Given the description of an element on the screen output the (x, y) to click on. 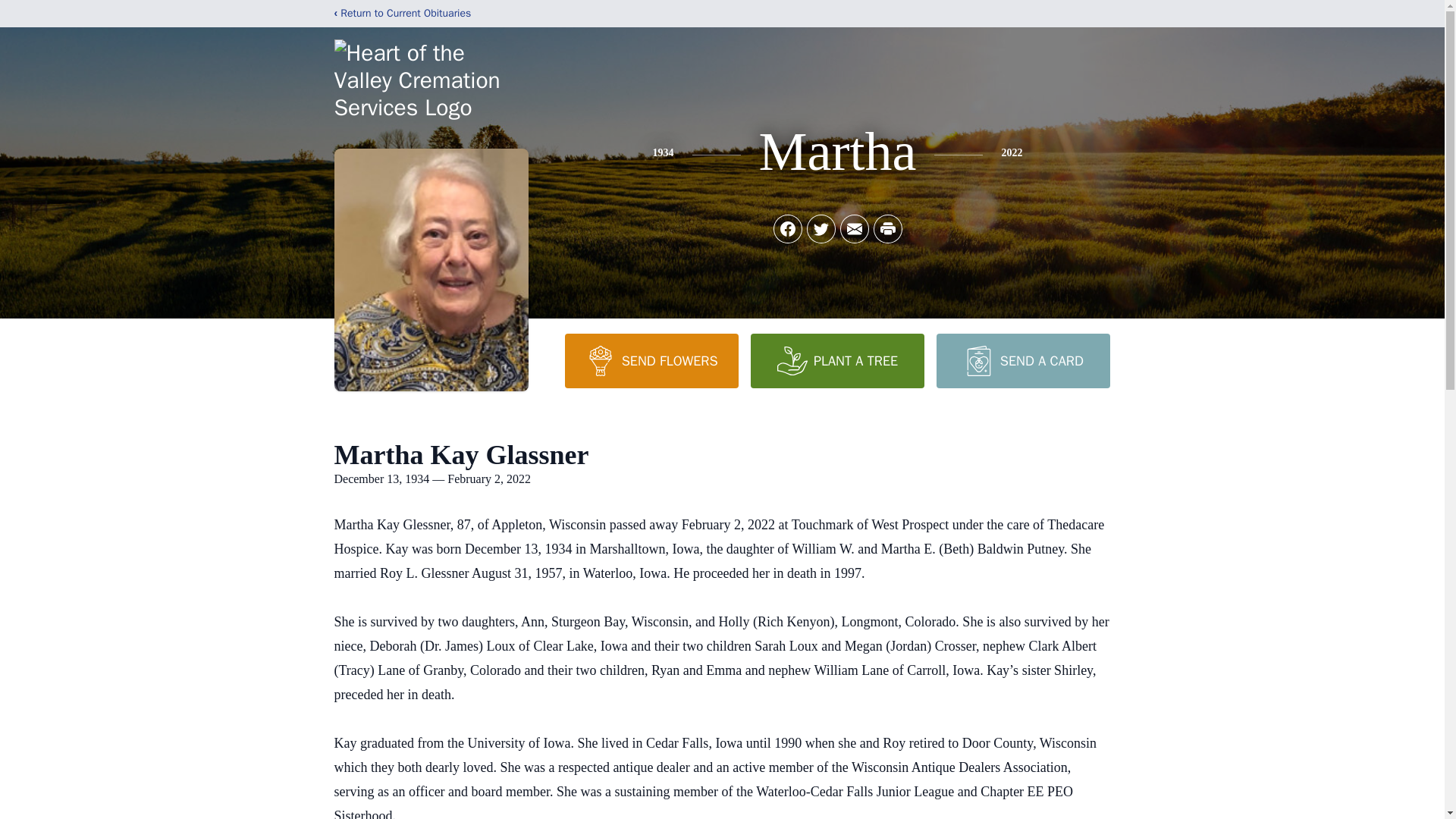
SEND FLOWERS (651, 360)
SEND A CARD (1022, 360)
PLANT A TREE (837, 360)
